Given the description of an element on the screen output the (x, y) to click on. 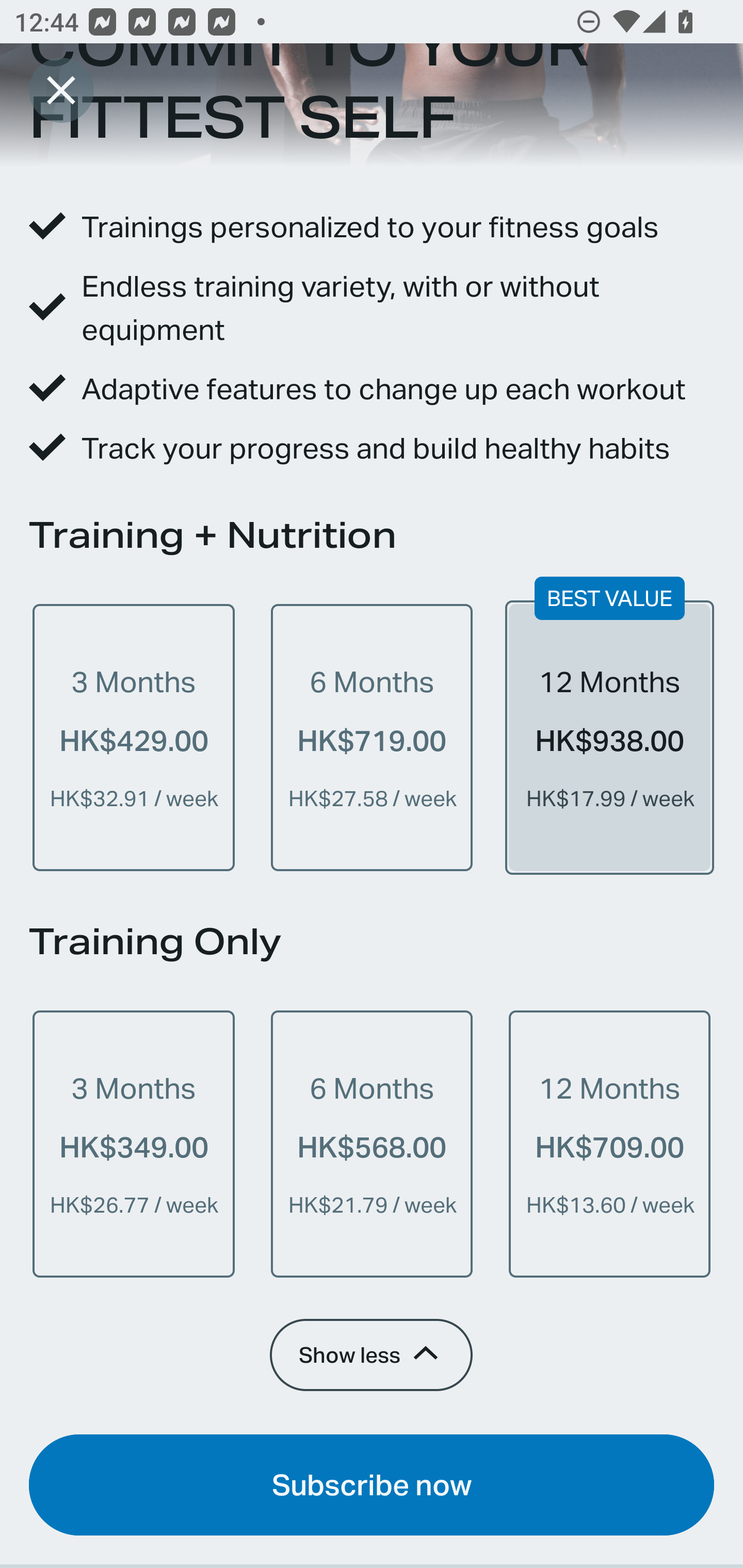
Close (60, 90)
3 Months HK$429.00 HK$32.91 / week (133, 737)
6 Months HK$719.00 HK$27.58 / week (371, 737)
12 Months HK$938.00 HK$17.99 / week (609, 737)
3 Months HK$349.00 HK$26.77 / week (133, 1143)
6 Months HK$568.00 HK$21.79 / week (371, 1143)
12 Months HK$709.00 HK$13.60 / week (609, 1143)
Show less (370, 1354)
Subscribe now (371, 1484)
